Given the description of an element on the screen output the (x, y) to click on. 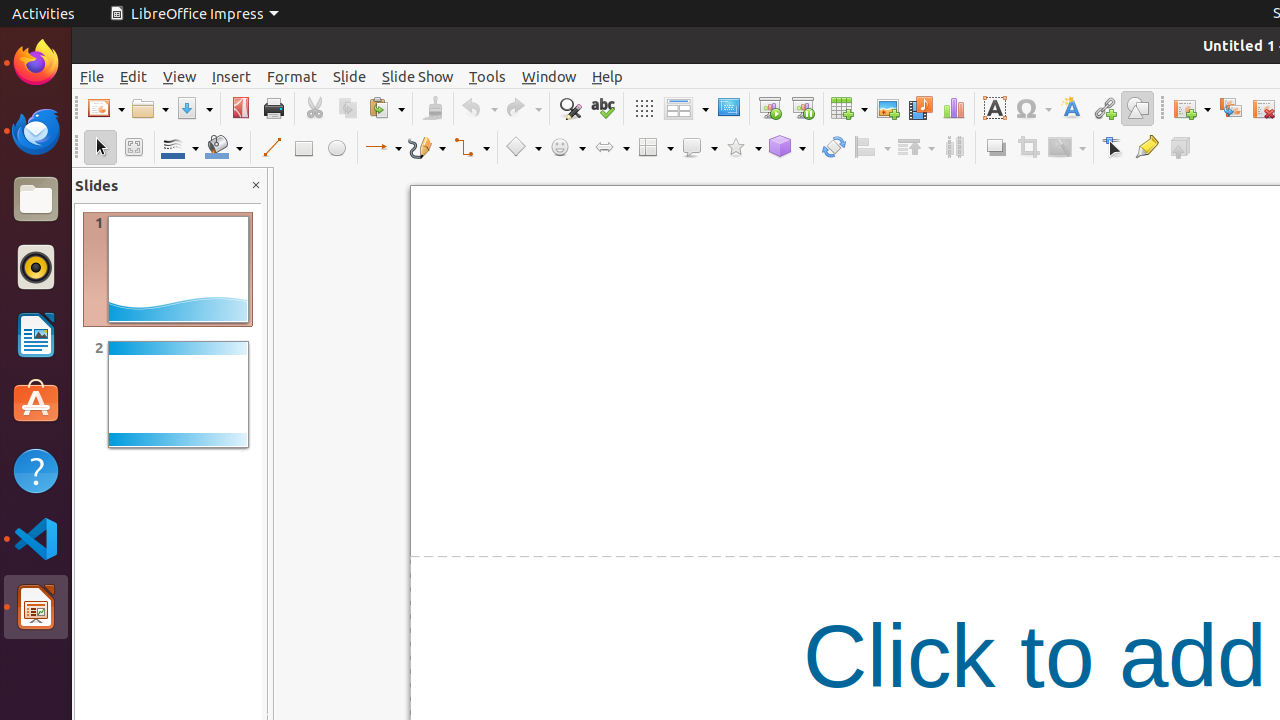
Tools Element type: menu (487, 76)
Start from First Slide Element type: push-button (769, 108)
Thunderbird Mail Element type: push-button (36, 131)
Rectangle Element type: push-button (303, 147)
Text Box Element type: push-button (994, 108)
